Given the description of an element on the screen output the (x, y) to click on. 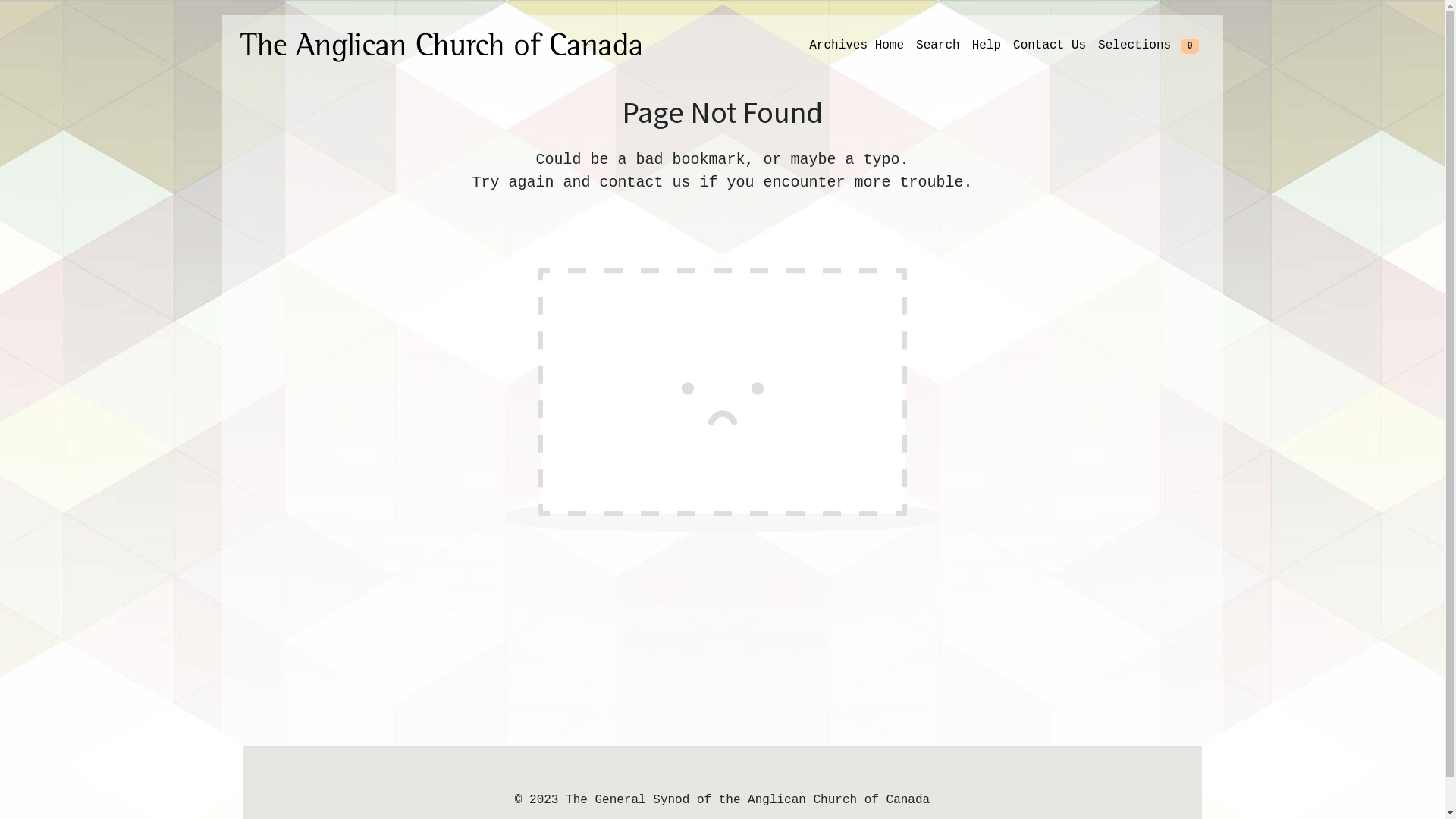
Selections 0 Element type: text (1148, 45)
Help Element type: text (986, 45)
Search Element type: text (938, 45)
Contact Us Element type: text (1049, 45)
Archives Home Element type: text (856, 45)
